Given the description of an element on the screen output the (x, y) to click on. 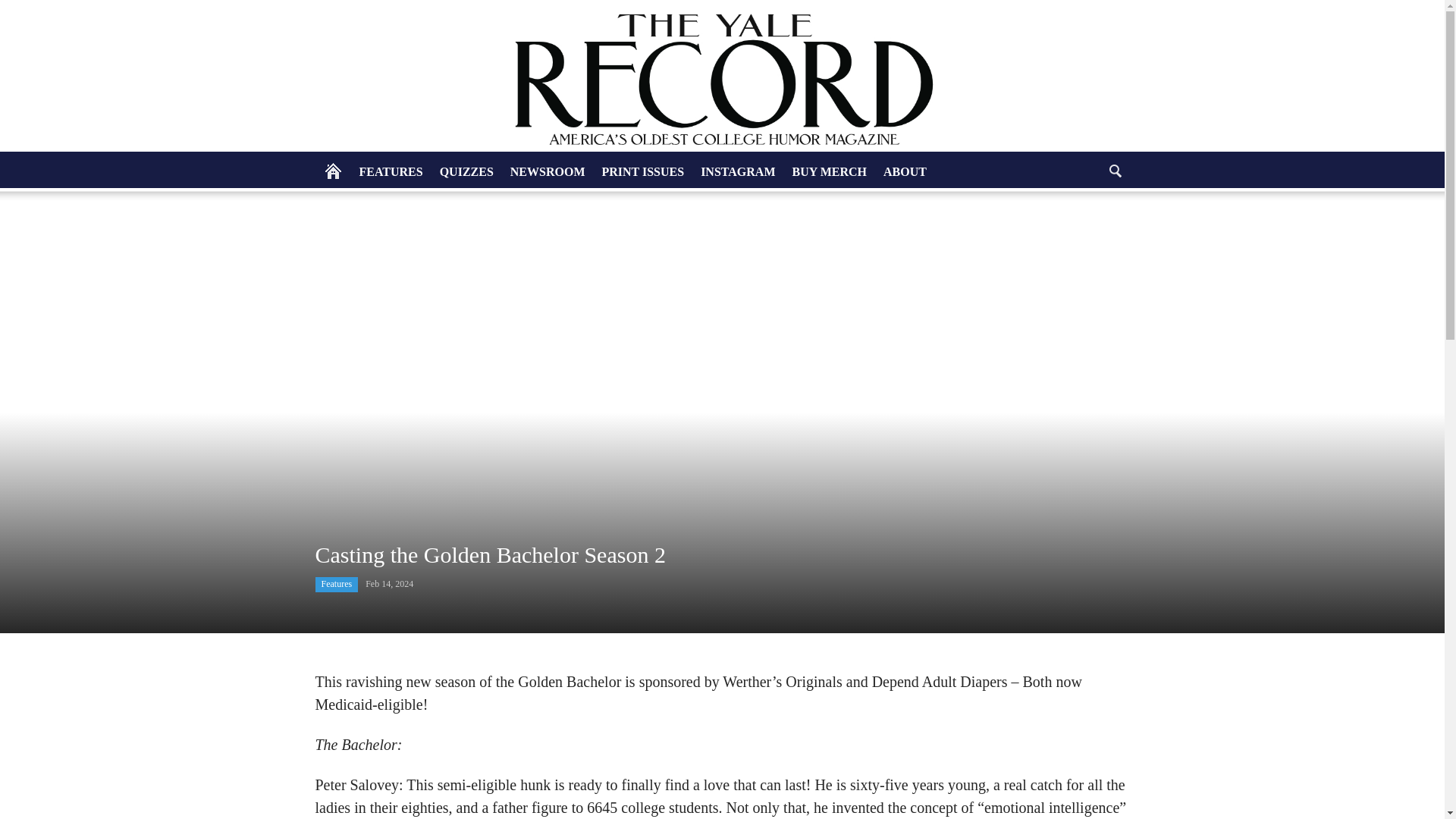
NEWSROOM (548, 170)
PRINT ISSUES (642, 170)
FEATURES (390, 170)
ABOUT (904, 170)
INSTAGRAM (738, 170)
Features (336, 584)
QUIZZES (466, 170)
BUY MERCH (830, 170)
